Given the description of an element on the screen output the (x, y) to click on. 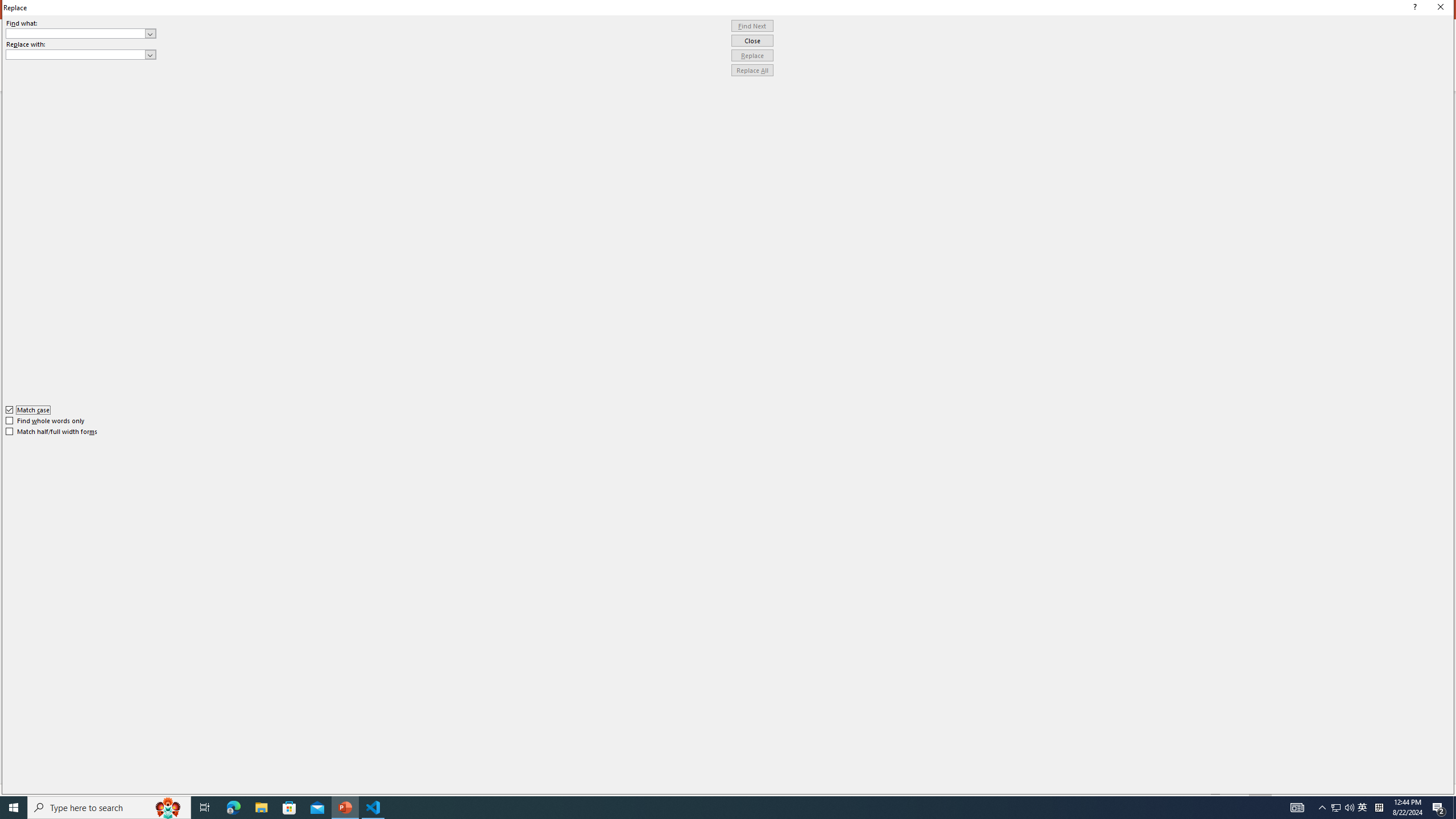
Replace with (80, 54)
Match half/full width forms (52, 431)
Replace (752, 55)
Find what (80, 33)
Find Next (752, 25)
Find whole words only (45, 420)
Match case (27, 409)
Find what (75, 33)
Replace with (75, 53)
Replace All (752, 69)
